Given the description of an element on the screen output the (x, y) to click on. 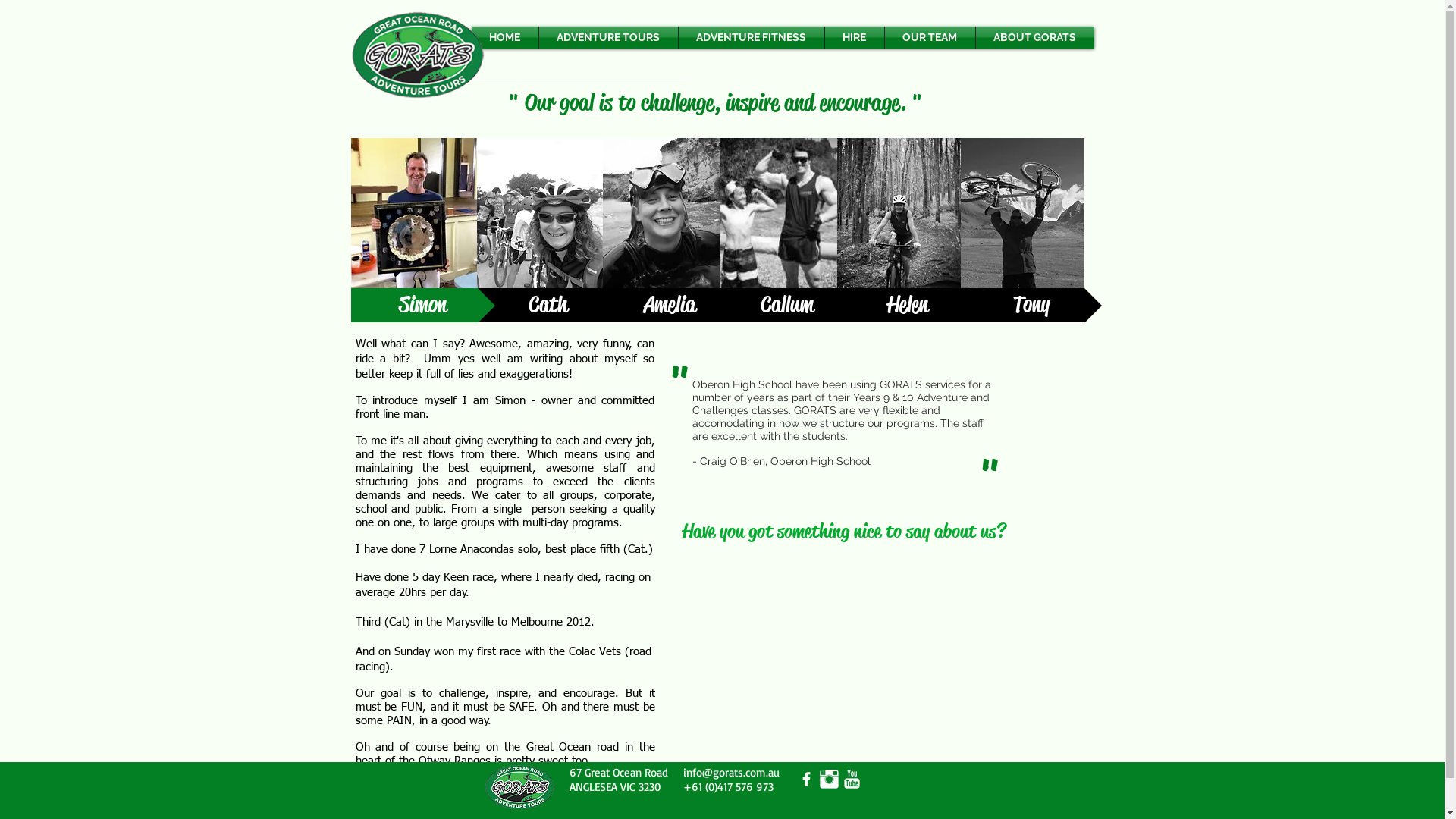
Cath Element type: text (547, 305)
info@gorats.com.au Element type: text (730, 772)
ADVENTURE FITNESS Element type: text (750, 37)
10320558_649958988407302_4099122161541969397_n.jpg Element type: hover (413, 213)
Edited Image 2014-10-22-16:22:9 Element type: hover (777, 213)
logo.png Element type: hover (416, 54)
ADVENTURE TOURS Element type: text (607, 37)
Have you got something nice to say about us? Element type: text (843, 530)
Tony Everest base camp 2.jpg Element type: hover (1021, 213)
Tony Element type: text (1030, 305)
HOME Element type: text (504, 37)
Helen Element type: text (907, 305)
ABOUT GORATS Element type: text (1034, 37)
HIRE Element type: text (854, 37)
OUR TEAM Element type: text (929, 37)
Edited Image 2014-10-22-15:38:58 Element type: hover (660, 213)
Amelia Element type: text (669, 305)
Callum Element type: text (786, 305)
logo.png Element type: hover (519, 787)
